Given the description of an element on the screen output the (x, y) to click on. 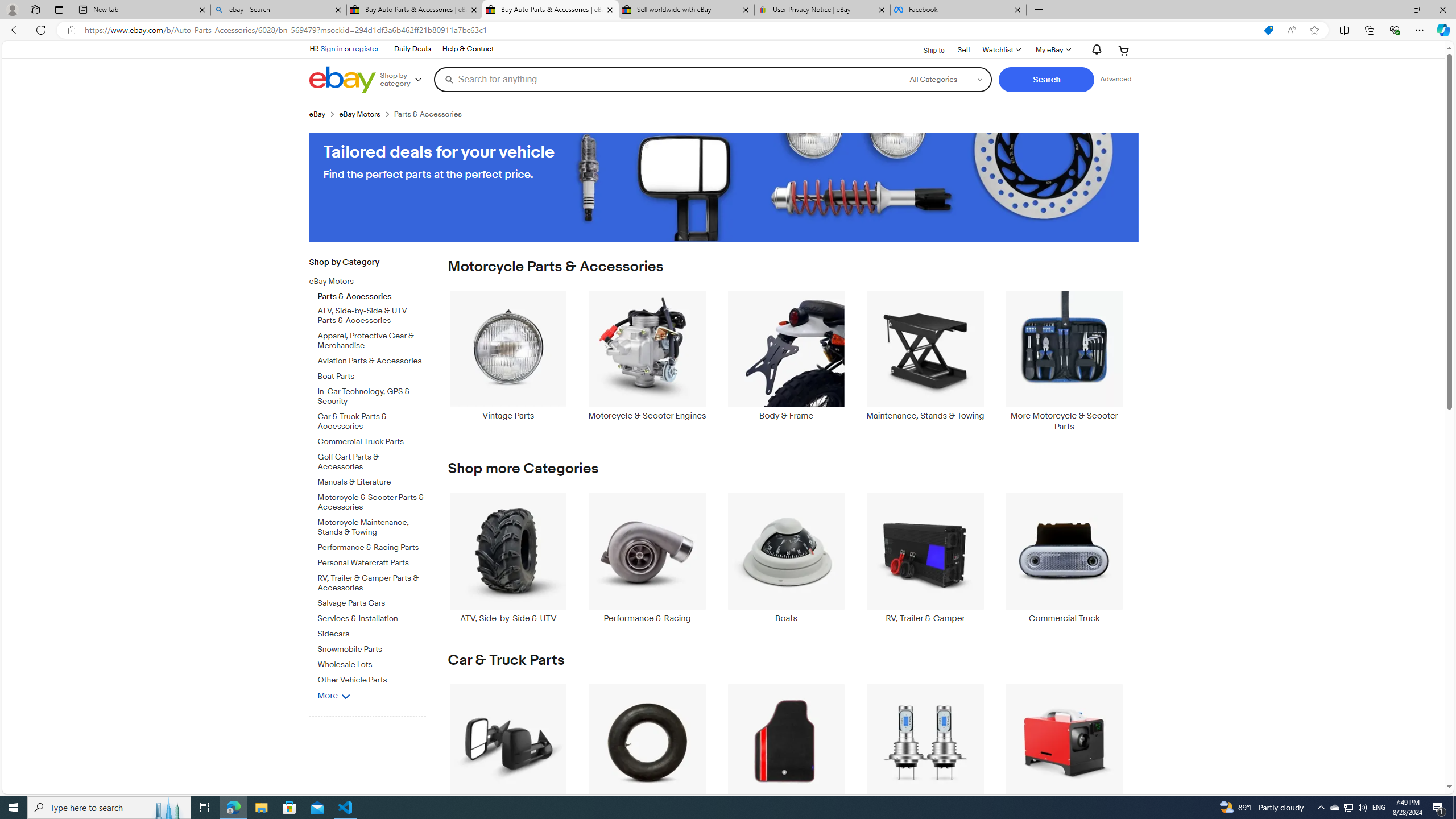
Apparel, Protective Gear & Merchandise (371, 338)
Motorcycle Maintenance, Stands & Towing (371, 525)
Daily Deals (412, 49)
Maintenance, Stands & Towing (925, 360)
Interior Parts & Accessories (786, 748)
ATV, Side-by-Side & UTV (508, 558)
